Given the description of an element on the screen output the (x, y) to click on. 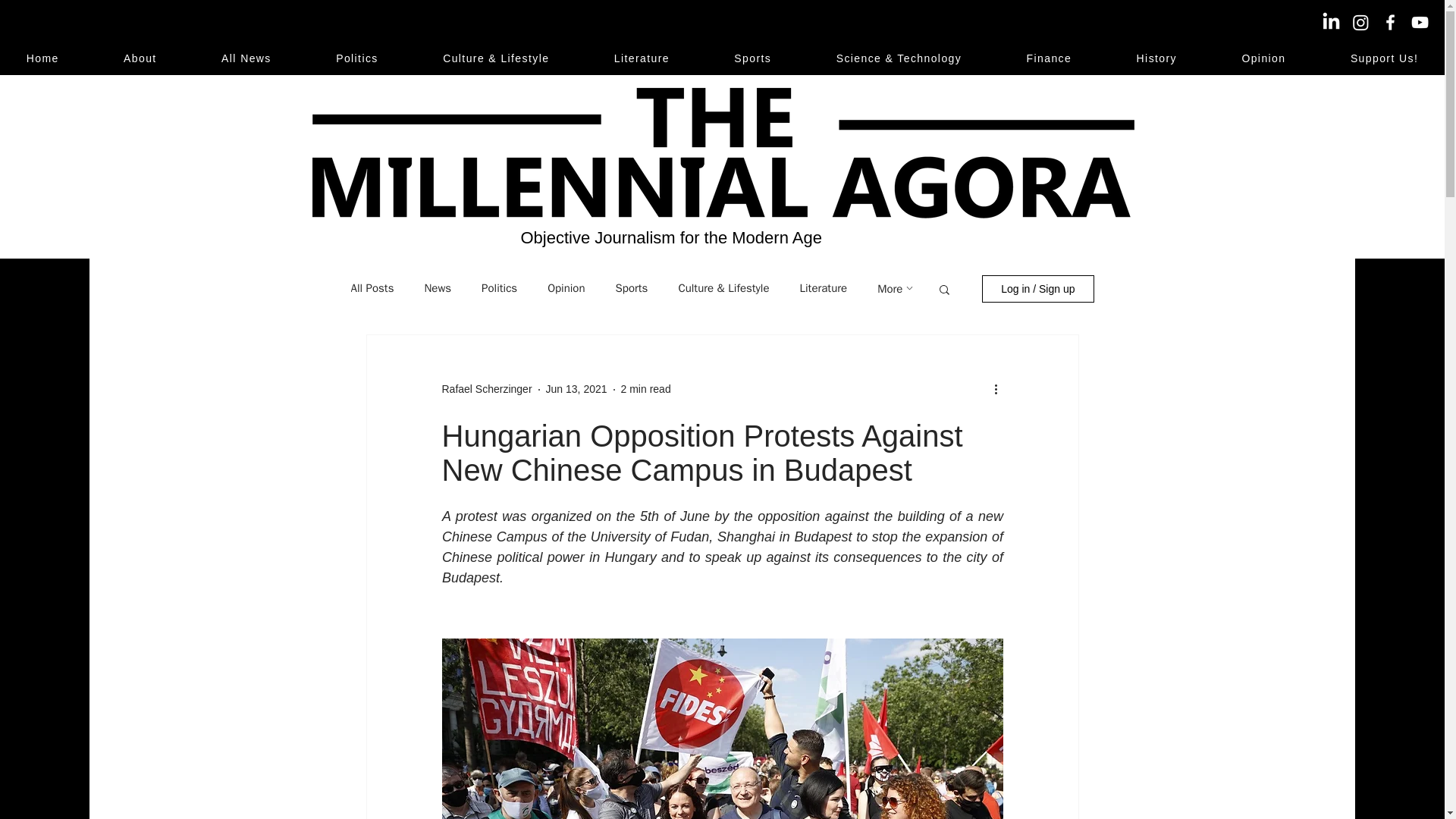
Opinion (1263, 58)
Sports (631, 288)
History (1156, 58)
Opinion (566, 288)
Rafael Scherzinger (486, 389)
2 min read (646, 388)
Home (42, 58)
Politics (356, 58)
All Posts (371, 288)
Sports (752, 58)
